Given the description of an element on the screen output the (x, y) to click on. 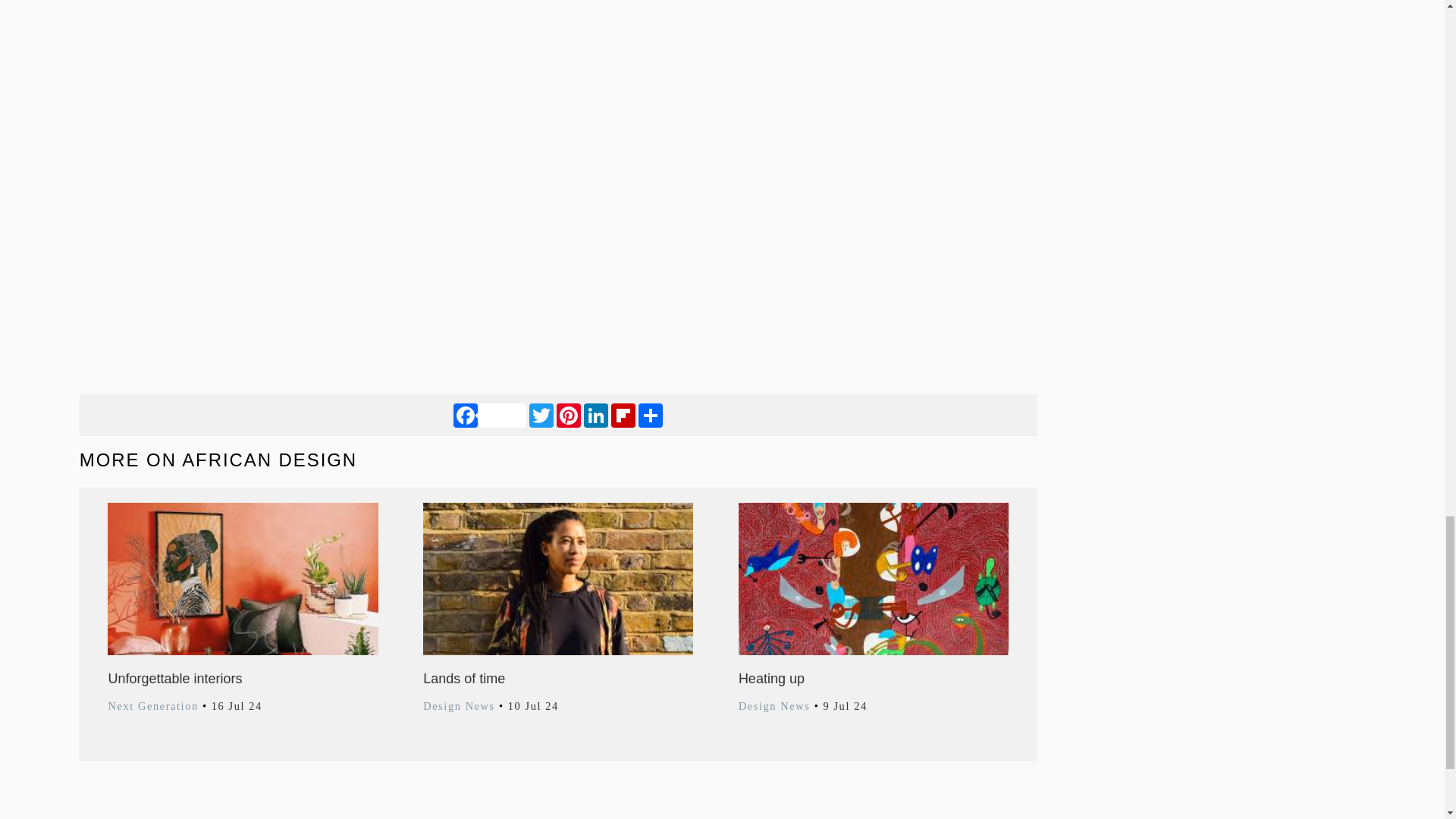
LinkedIn (595, 414)
Pinterest (568, 414)
Facebook (488, 414)
Twitter (541, 414)
Flipboard (622, 414)
